Given the description of an element on the screen output the (x, y) to click on. 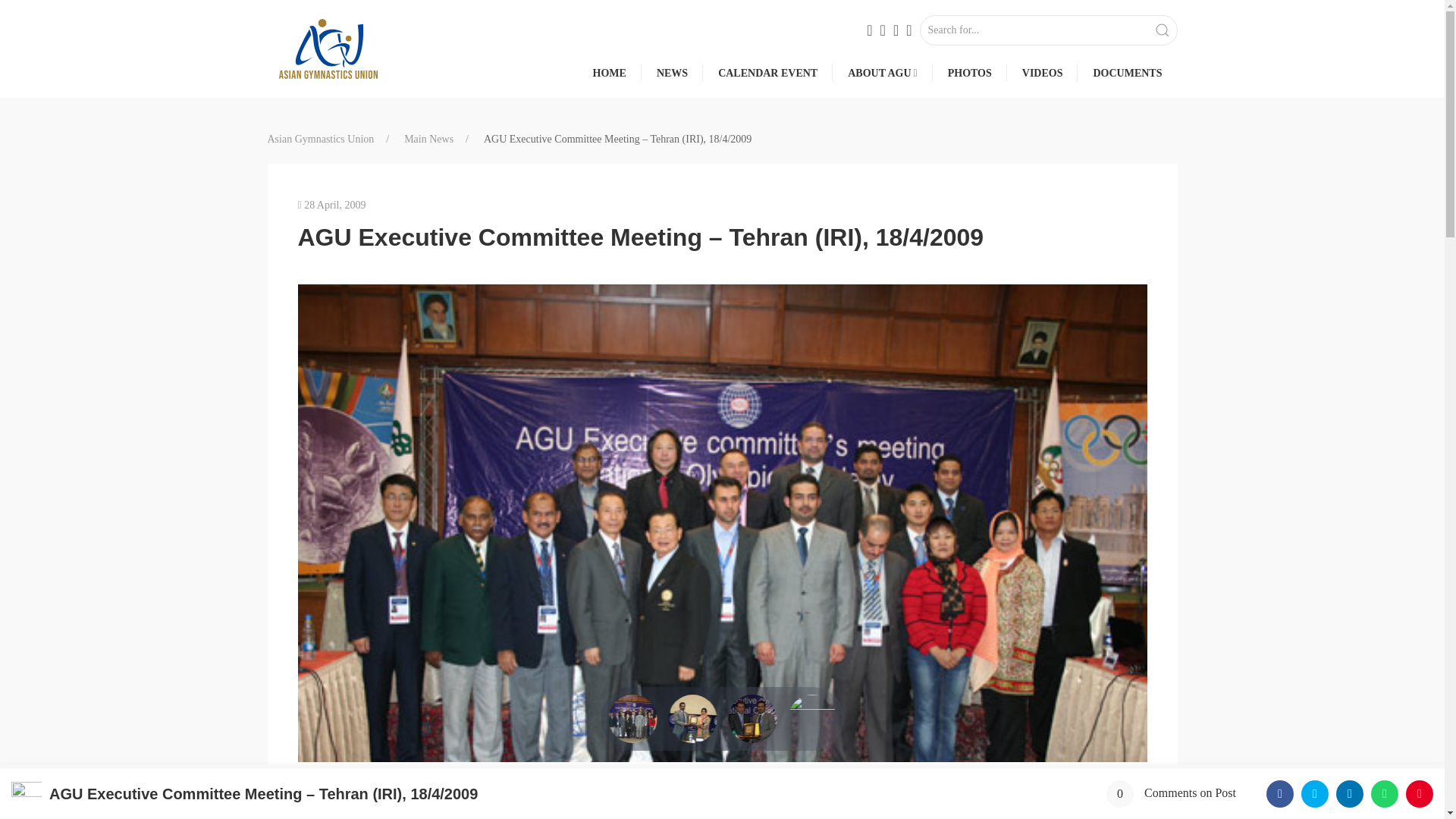
Share on Twitter (1314, 793)
Share via Whatsapp (1384, 793)
HOME (609, 72)
NEWS (671, 72)
PHOTOS (969, 72)
EC Members 2009 (722, 805)
Share on Linked In (1349, 793)
ABOUT AGU (879, 72)
Share on Facebook (1280, 793)
Share by Email (1419, 793)
